Given the description of an element on the screen output the (x, y) to click on. 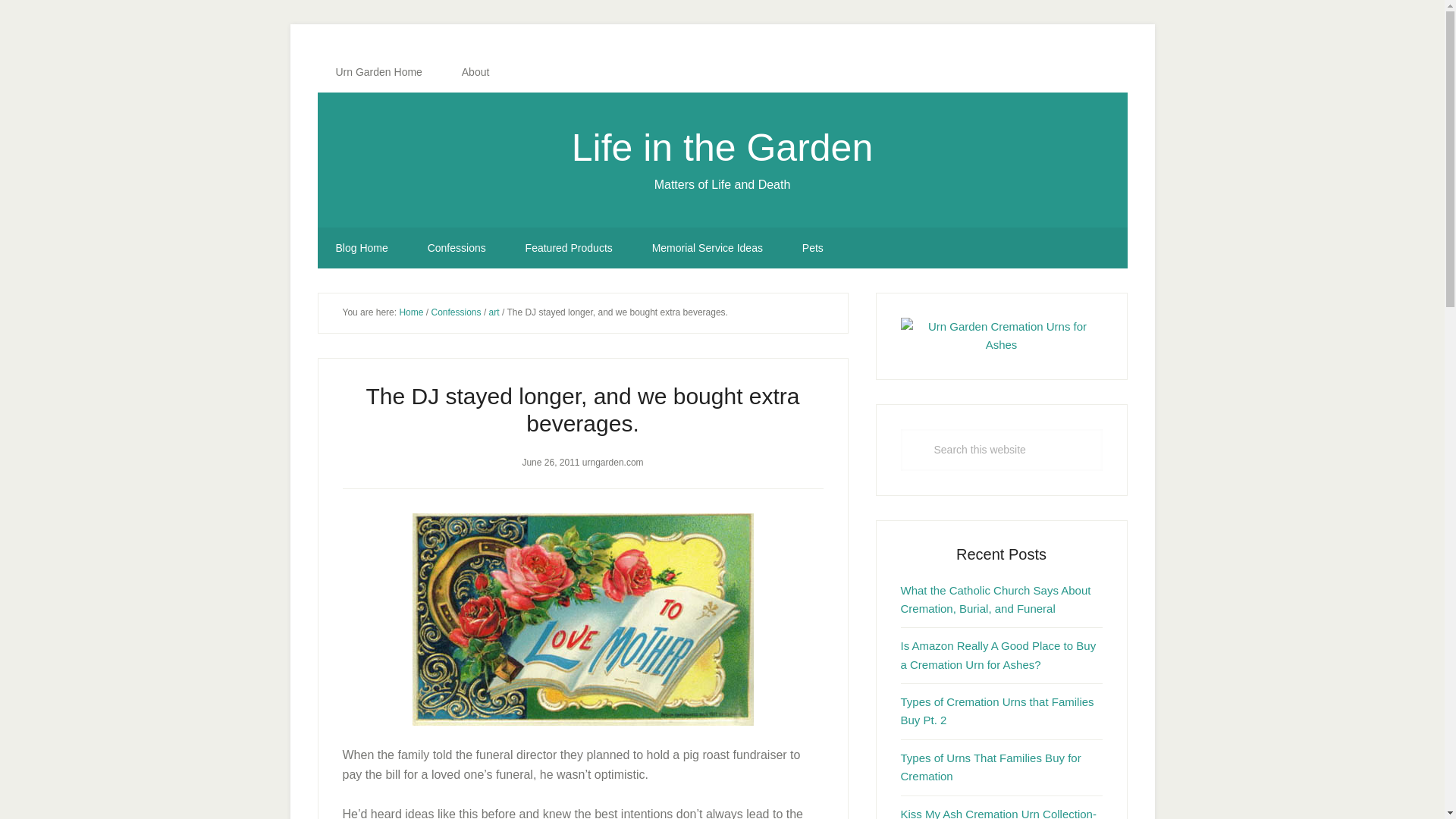
Featured Products (568, 247)
Home (410, 312)
Urn Garden Home (378, 71)
Visit Urn Garden (378, 71)
Blog Home (361, 247)
art (494, 312)
Confessions (456, 247)
Types of Cremation Urns that Families Buy Pt. 2 (997, 710)
Memorial Service Ideas (706, 247)
